Given the description of an element on the screen output the (x, y) to click on. 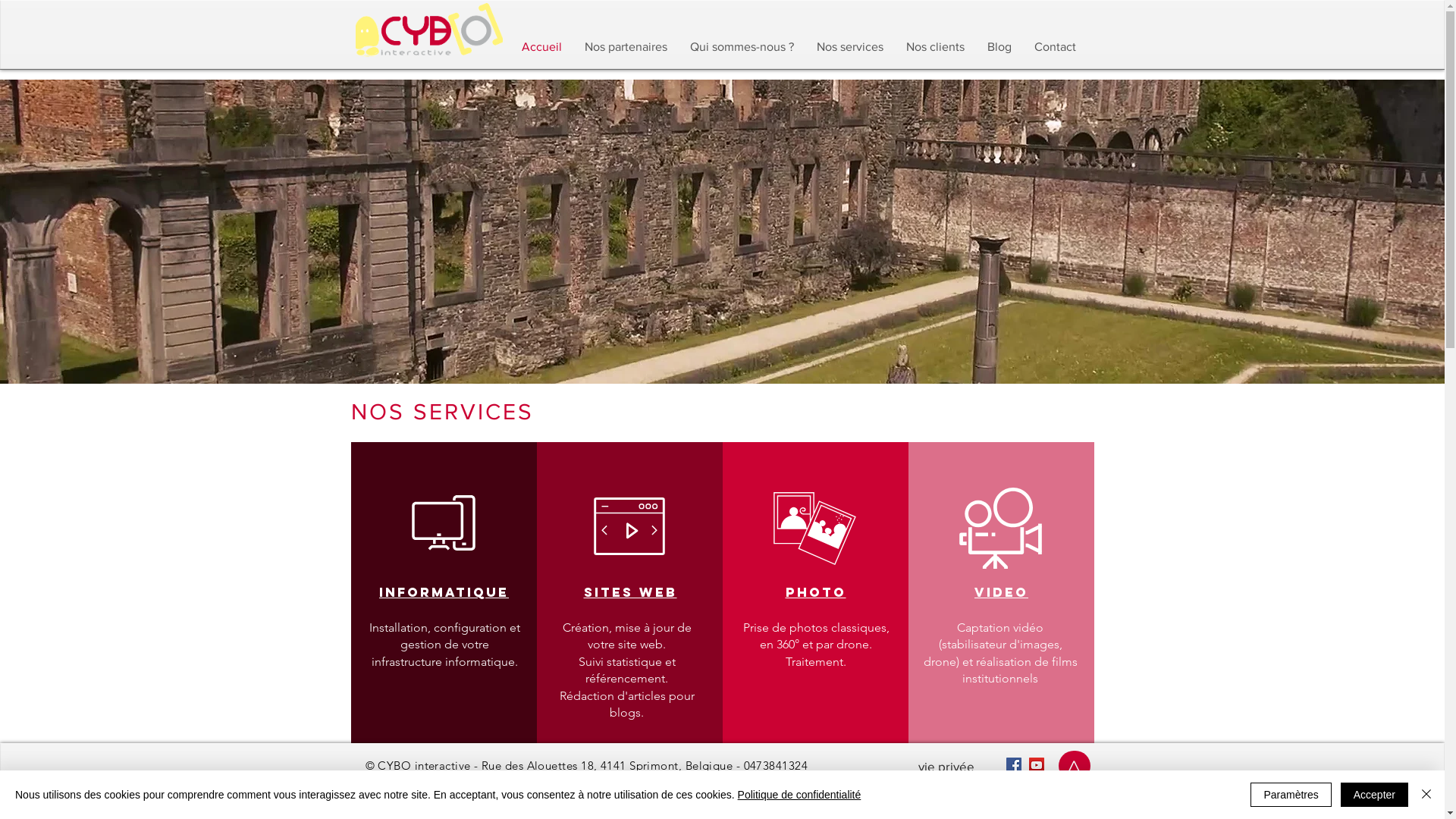
Accepter Element type: text (1374, 794)
En savoir plus > Element type: text (1000, 760)
PHOTO Element type: text (815, 592)
VIDEO Element type: text (1001, 592)
Nos clients Element type: text (934, 46)
0473841324 Element type: text (775, 765)
logo-cybo-interactive.gif Element type: hover (428, 30)
SITES WEB Element type: text (630, 592)
Nos services Element type: text (849, 46)
Qui sommes-nous ? Element type: text (740, 46)
Contact Element type: text (1054, 46)
Blog Element type: text (998, 46)
En savoir plus > Element type: text (627, 760)
INFORMATIQUE Element type: text (443, 592)
En savoir plus > Element type: text (814, 760)
Nos partenaires Element type: text (625, 46)
En savoir plus > Element type: text (442, 760)
> Element type: text (1073, 766)
Accueil Element type: text (540, 46)
